Given the description of an element on the screen output the (x, y) to click on. 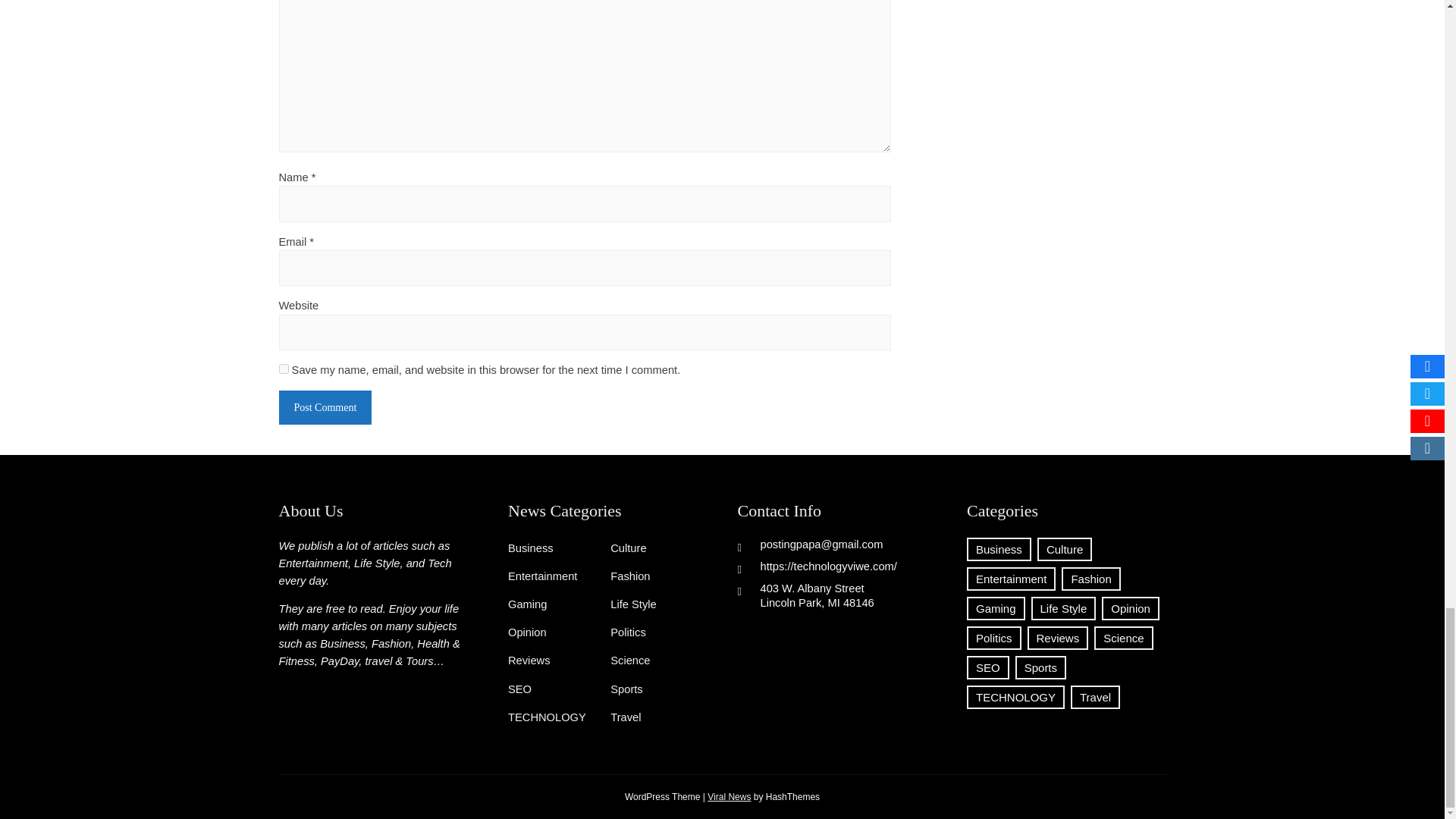
yes (283, 368)
Post Comment (325, 407)
Download Viral News (729, 796)
Post Comment (325, 407)
